Given the description of an element on the screen output the (x, y) to click on. 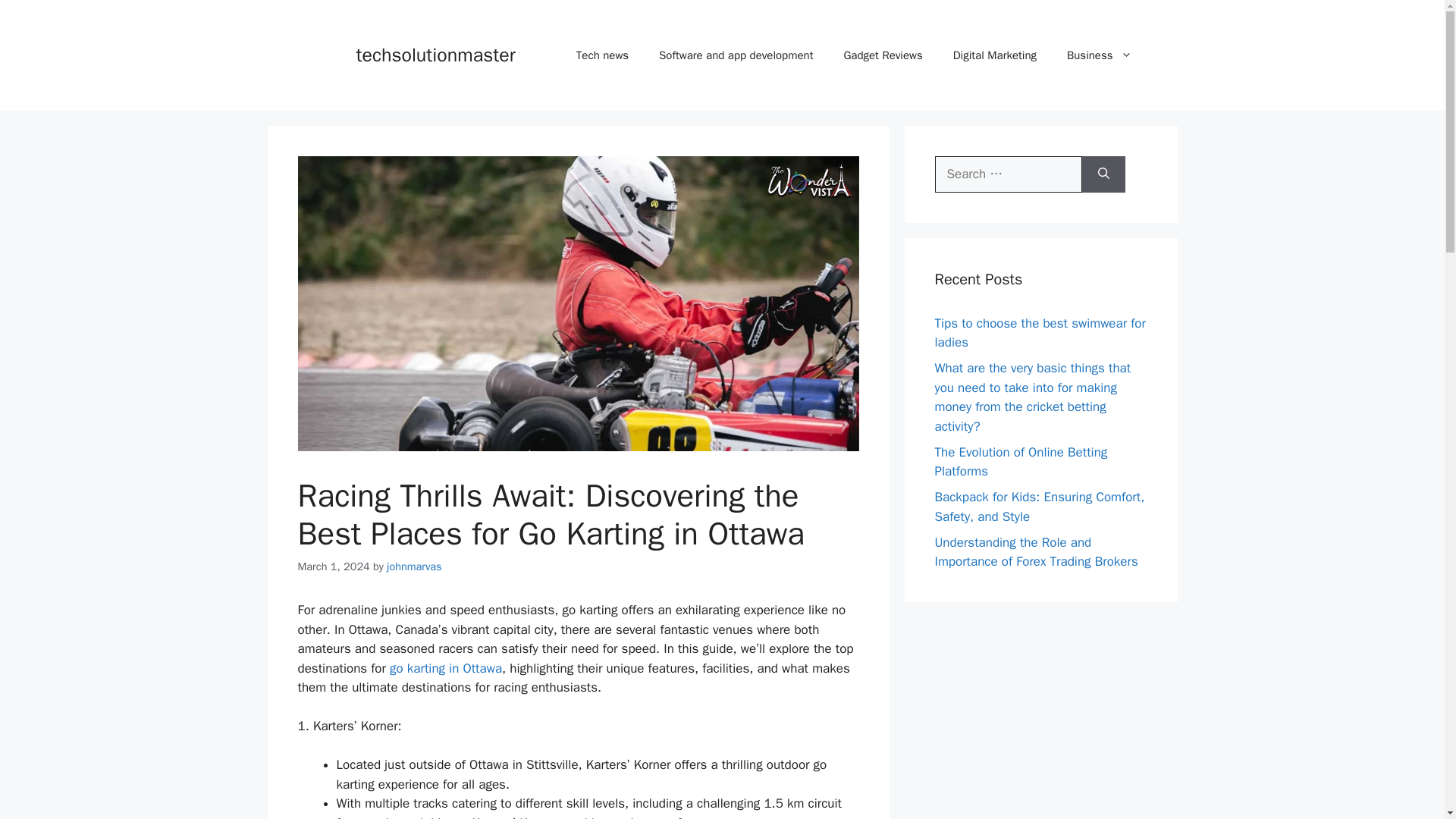
go karting in Ottawa (446, 668)
The Evolution of Online Betting Platforms (1020, 461)
View all posts by johnmarvas (414, 566)
Software and app development (735, 54)
Search for: (1007, 174)
Tips to choose the best swimwear for ladies (1039, 333)
johnmarvas (414, 566)
Backpack for Kids: Ensuring Comfort, Safety, and Style (1039, 506)
Business (1099, 54)
Digital Marketing (994, 54)
Tech news (601, 54)
Gadget Reviews (882, 54)
techsolutionmaster (435, 54)
